Given the description of an element on the screen output the (x, y) to click on. 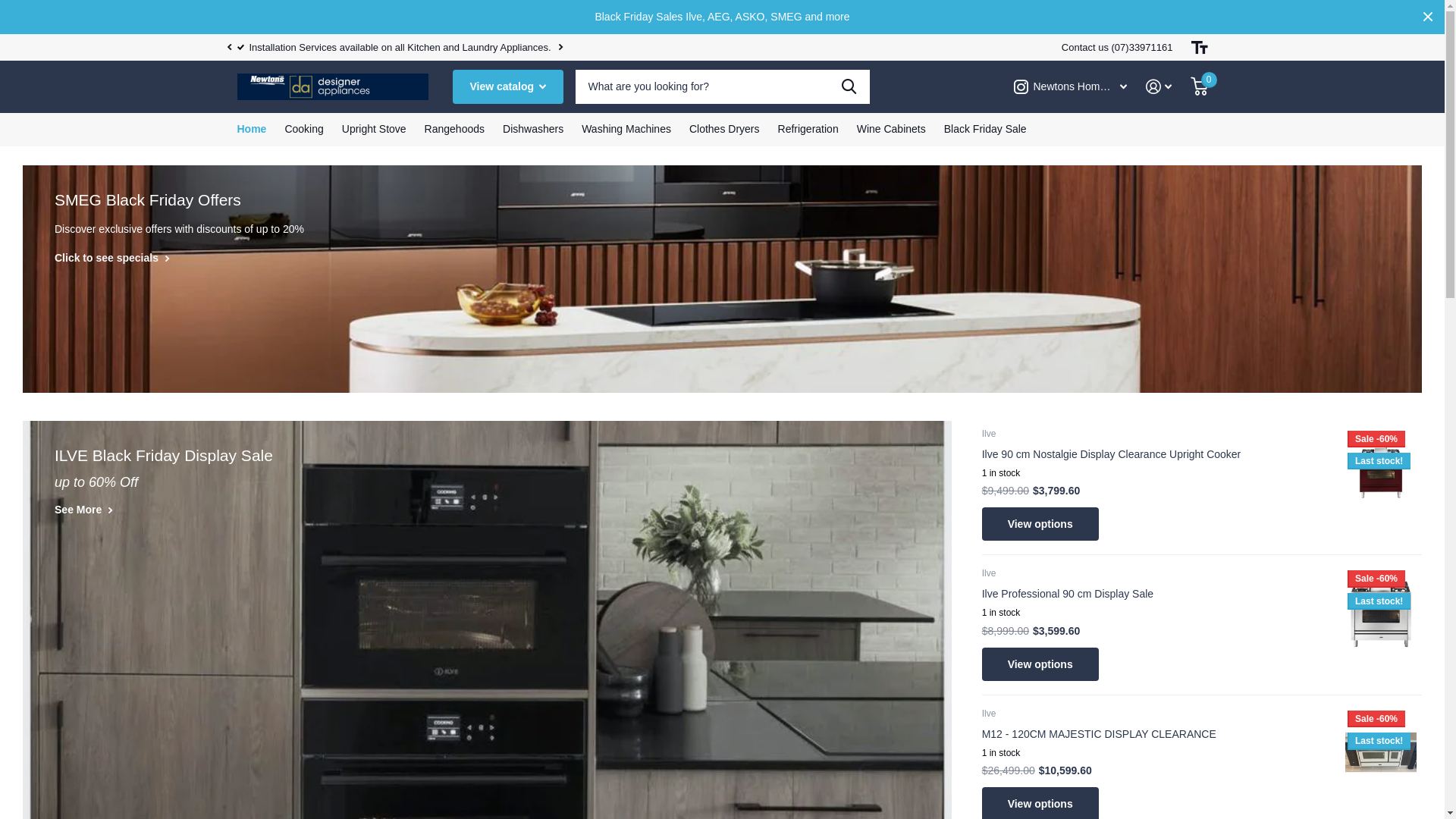
Close Element type: text (1427, 16)
Ilve 90 cm Nostalgie Display Clearance Upright Cooker Element type: text (1154, 453)
M12 - 120CM MAJESTIC DISPLAY CLEARANCE Element type: text (1154, 733)
Refrigeration Element type: text (808, 129)
Black Friday Sale Element type: text (985, 129)
Cooking Element type: text (303, 129)
Contact us (07)33971161 Element type: text (1117, 47)
View options Element type: text (1040, 524)
Rangehoods Element type: text (454, 129)
0 Element type: text (1199, 86)
Next Element type: text (561, 47)
Washing Machines Element type: text (626, 129)
Clothes Dryers Element type: text (724, 129)
View catalog Element type: text (506, 86)
Wine Cabinets Element type: text (890, 129)
Zoeken Element type: text (848, 86)
See More  Element type: text (83, 509)
Home Element type: text (251, 129)
Click to see specials  Element type: text (111, 257)
Upright Stove Element type: text (374, 129)
Newtons Home Appliances Element type: text (1069, 86)
Ilve Professional 90 cm Display Sale Element type: text (1154, 593)
Dishwashers Element type: text (532, 129)
View options Element type: text (1040, 664)
